Given the description of an element on the screen output the (x, y) to click on. 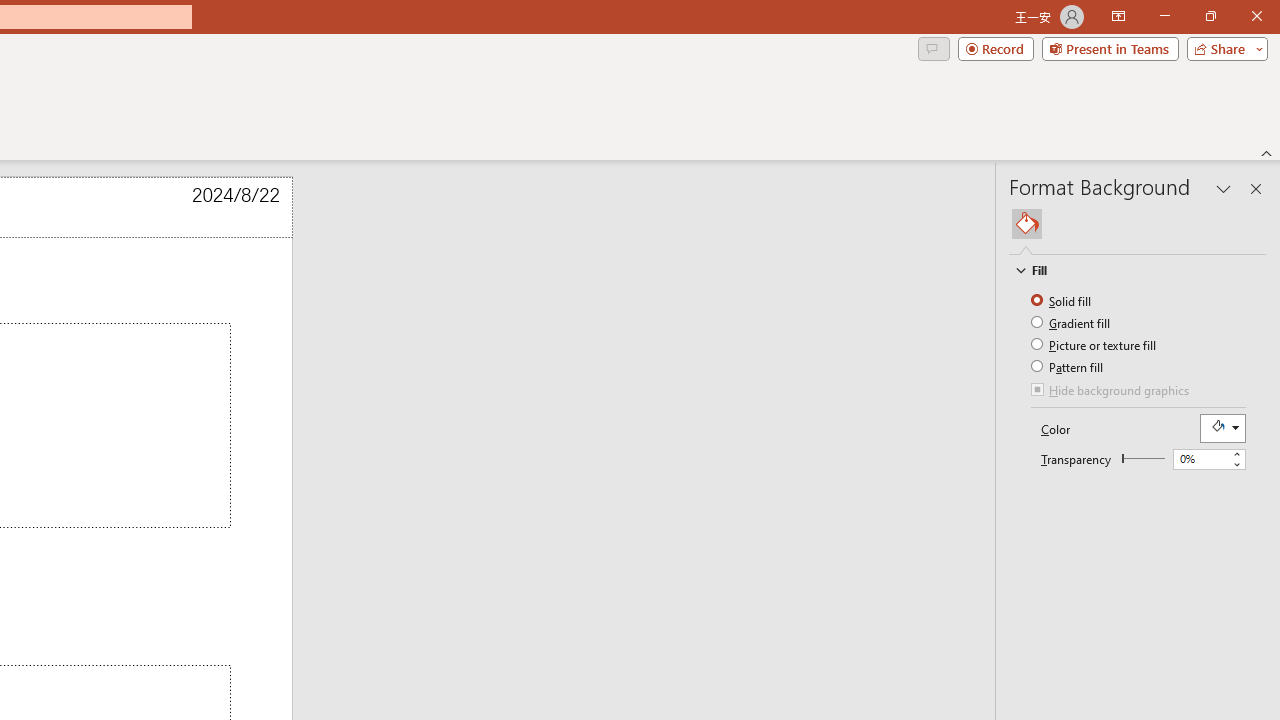
Hide background graphics (1111, 391)
Fill Color RGB(255, 255, 255) (1222, 427)
Close pane (1256, 188)
Fill (1128, 269)
Class: NetUIGalleryContainer (1138, 223)
Gradient fill (1071, 322)
Solid fill (1062, 300)
Page right (1146, 458)
Task Pane Options (1224, 188)
